Given the description of an element on the screen output the (x, y) to click on. 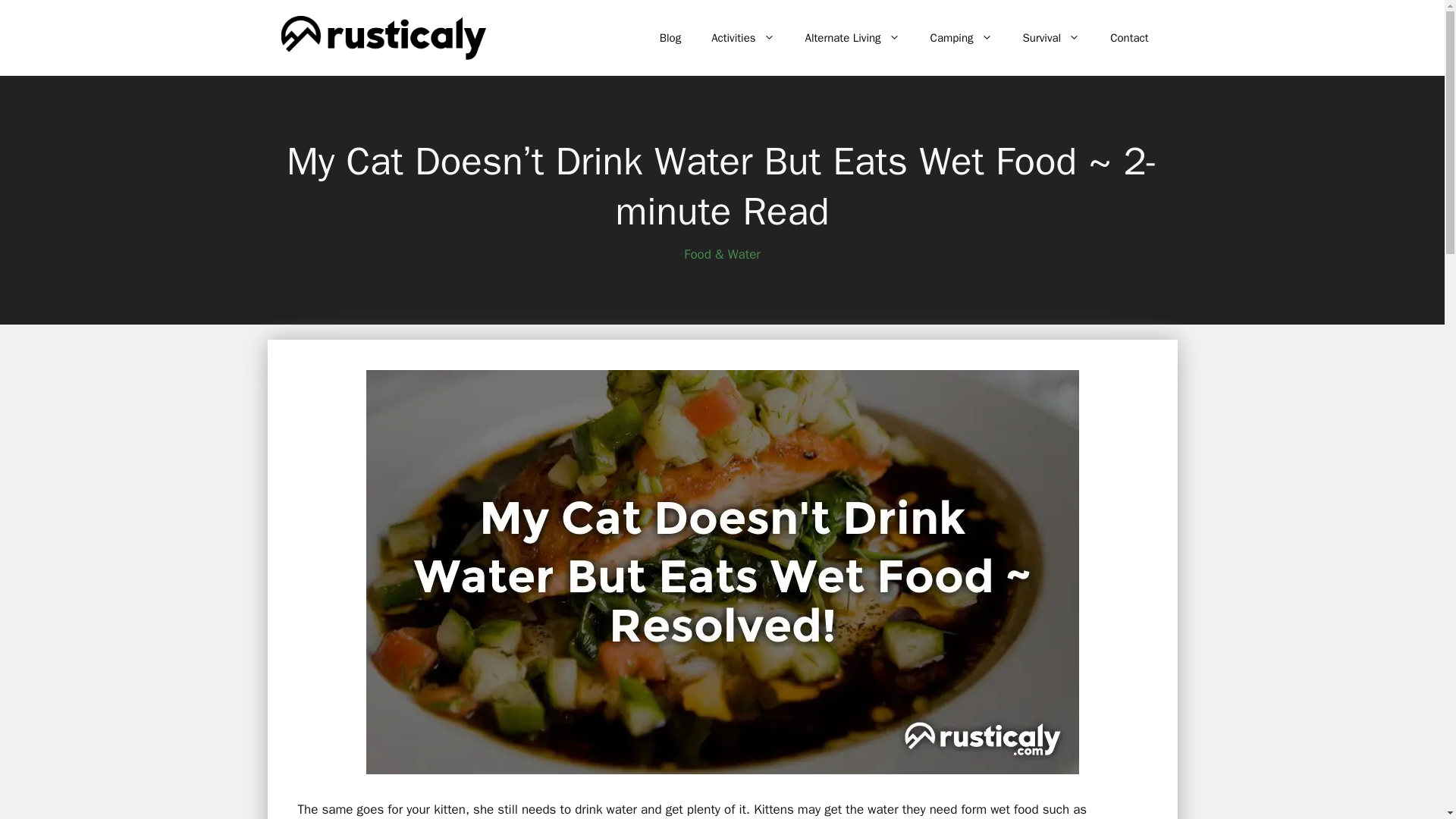
Survival (1051, 37)
Alternate Living (852, 37)
Blog (670, 37)
Contact (1128, 37)
Rusticaly (382, 36)
Camping (961, 37)
Rusticaly (382, 36)
Activities (742, 37)
